Given the description of an element on the screen output the (x, y) to click on. 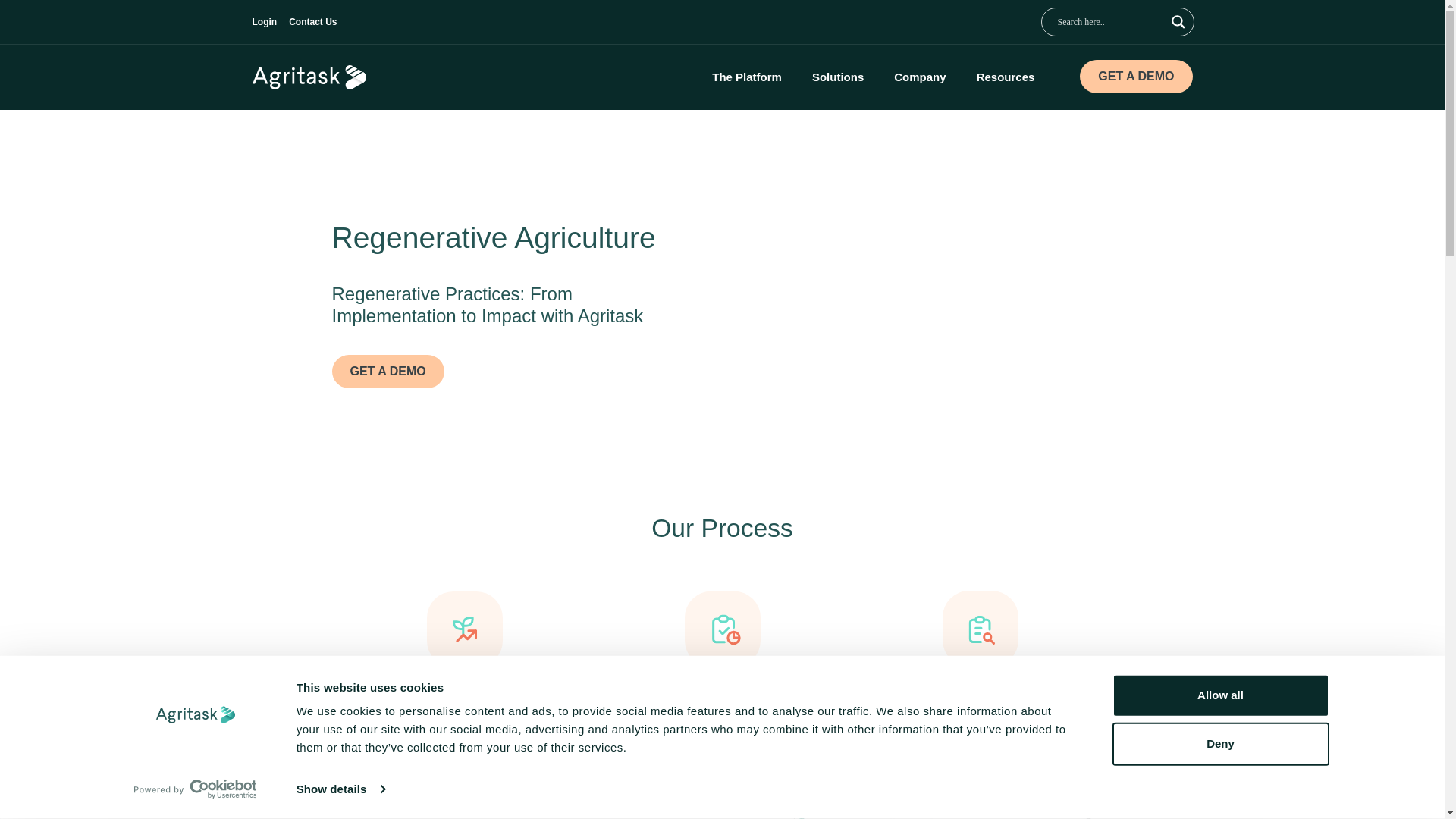
Show details (340, 789)
